Given the description of an element on the screen output the (x, y) to click on. 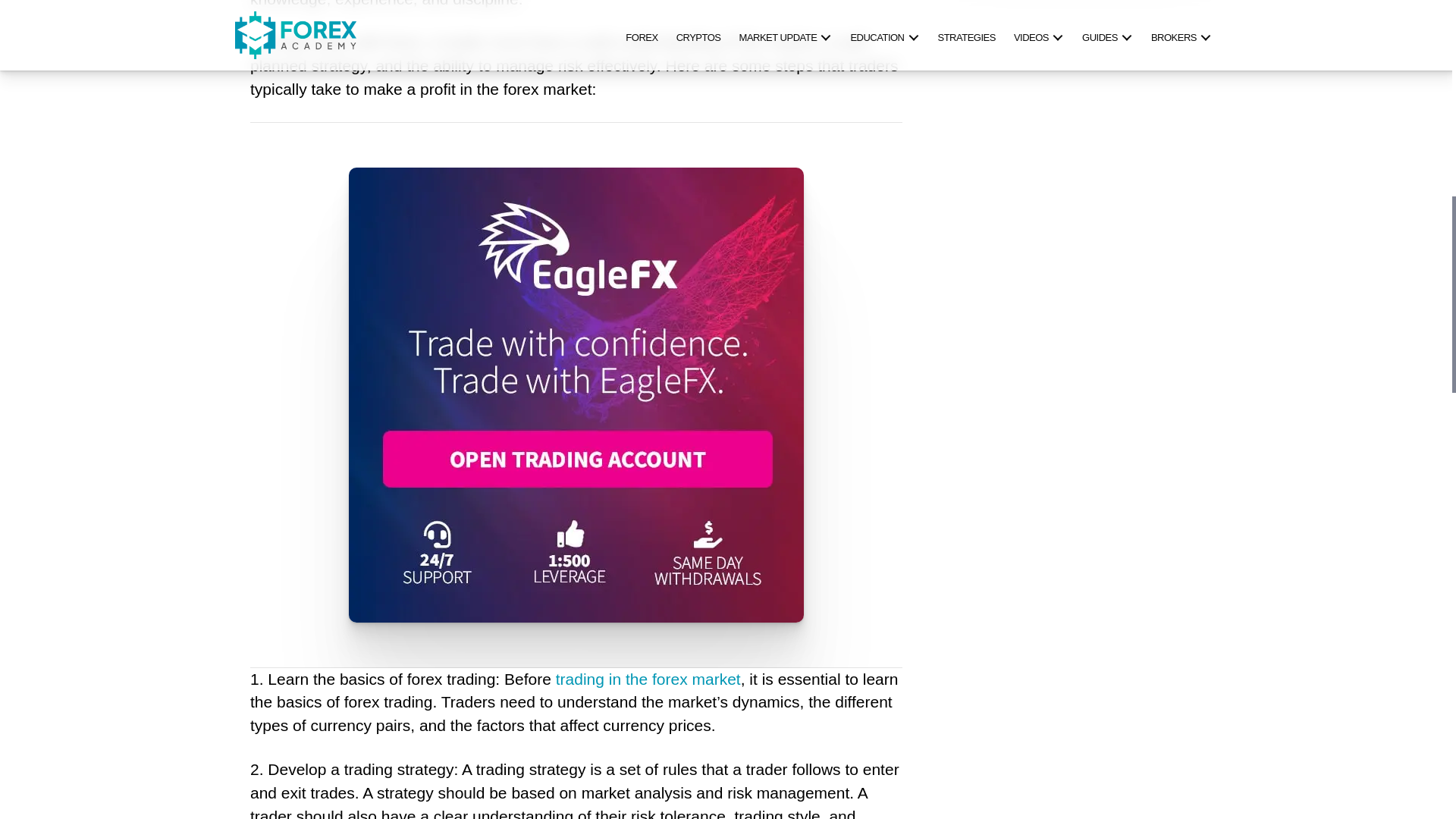
trading in the forex market (648, 679)
